Given the description of an element on the screen output the (x, y) to click on. 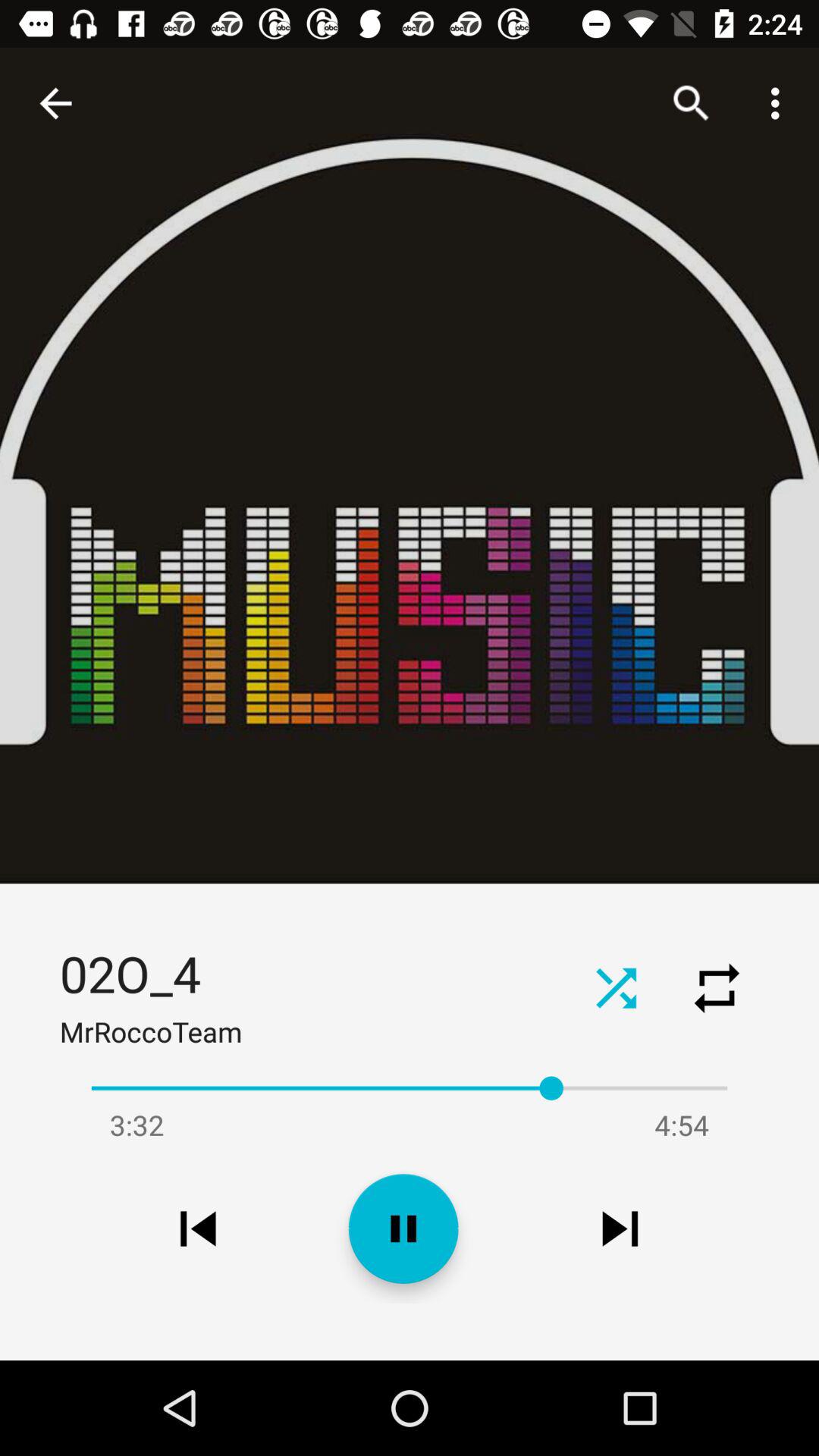
select the item above the 02o_4 (55, 103)
